Given the description of an element on the screen output the (x, y) to click on. 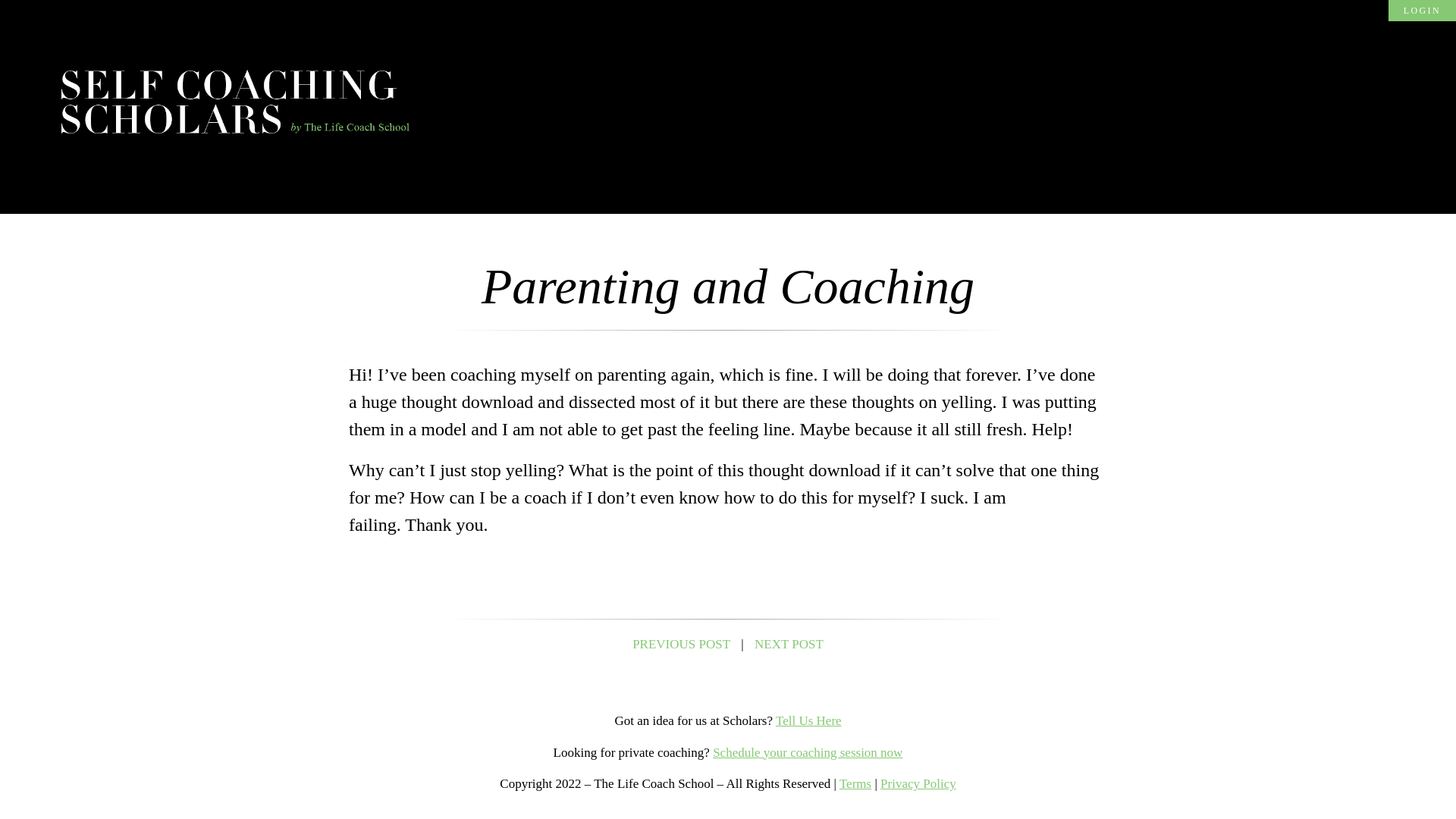
Tell Us Here (808, 720)
Privacy Policy (918, 783)
PREVIOUS POST (680, 644)
Terms (855, 783)
Schedule your coaching session now (807, 752)
NEXT POST (789, 644)
